Given the description of an element on the screen output the (x, y) to click on. 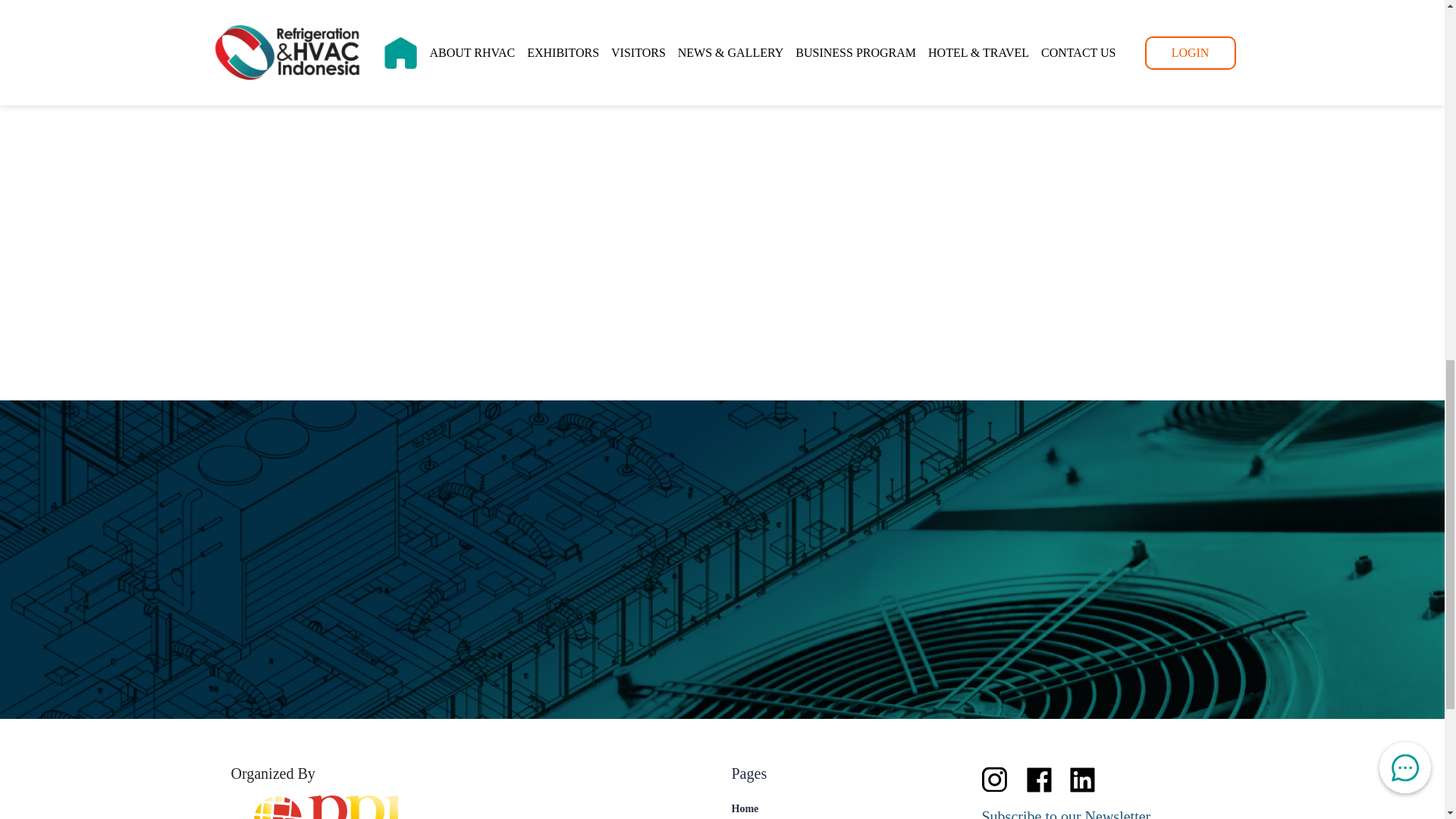
Home (831, 808)
